Given the description of an element on the screen output the (x, y) to click on. 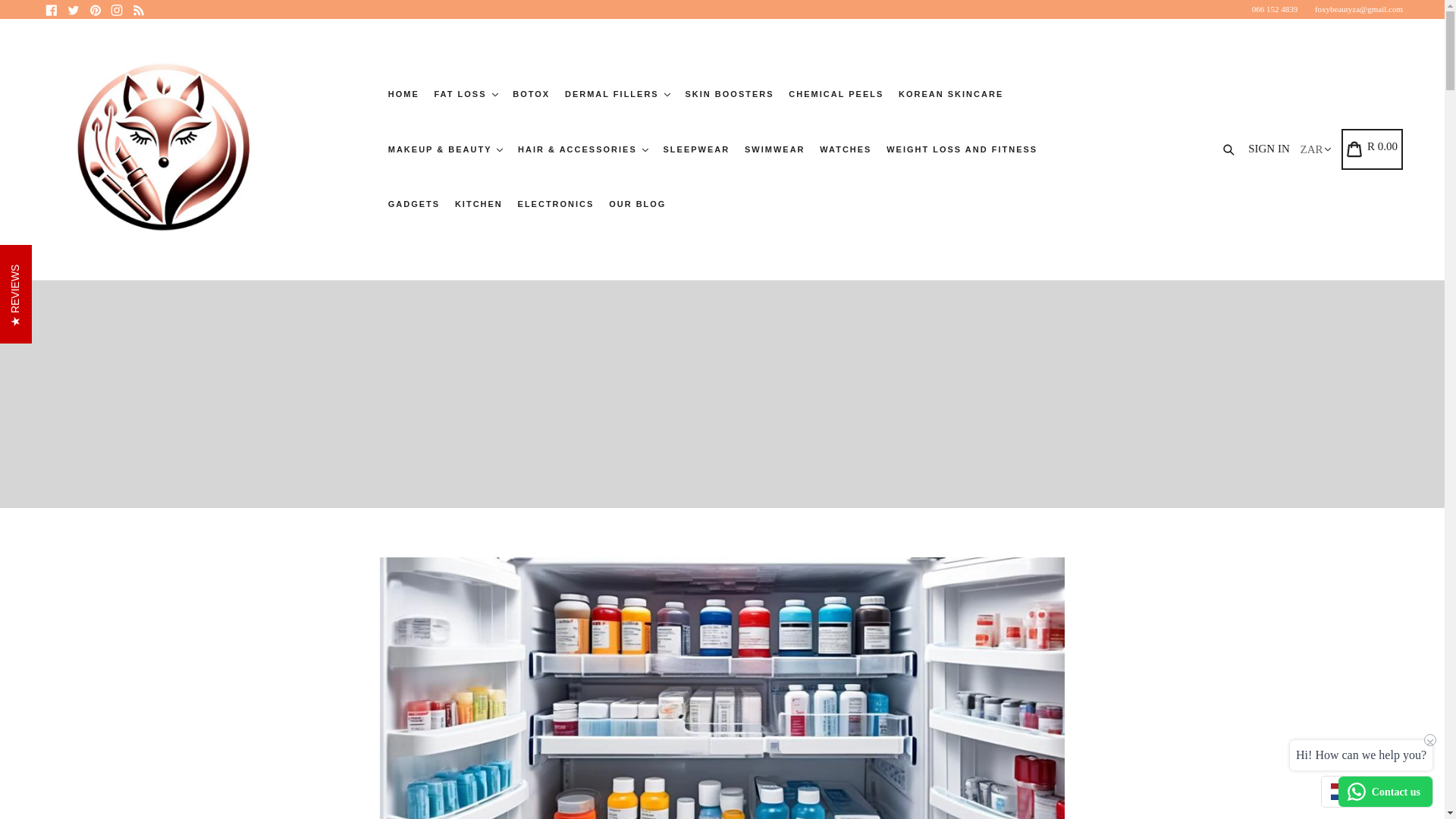
Foxy Beauty on Twitter (73, 9)
Foxy Beauty on Instagram (116, 9)
Foxy Beauty on Facebook (51, 9)
Foxy Beauty on Pinterest (94, 9)
